Given the description of an element on the screen output the (x, y) to click on. 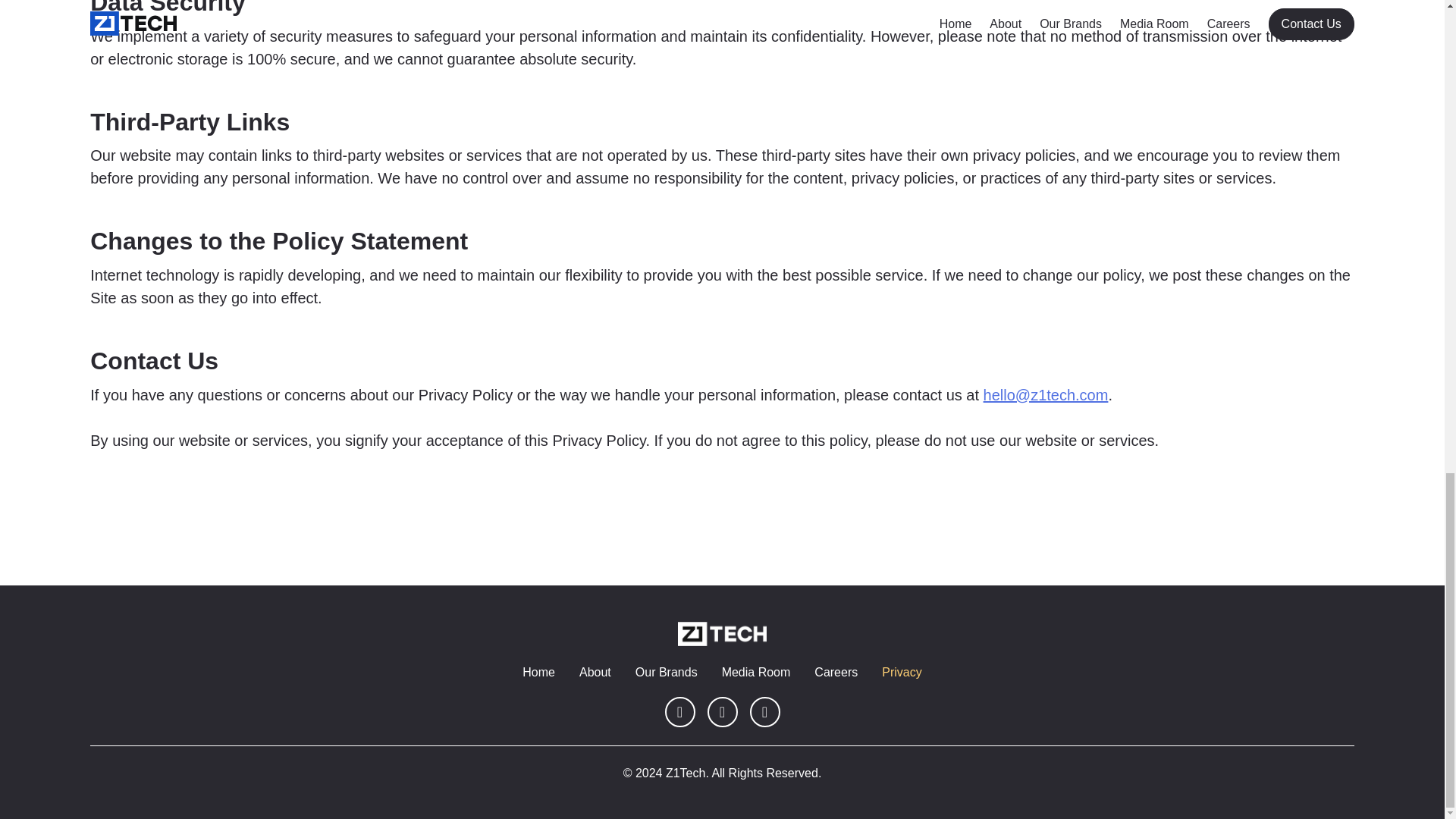
Careers (835, 671)
Our Brands (665, 671)
Privacy (901, 671)
About (595, 671)
Media Room (756, 671)
Home (538, 671)
